Given the description of an element on the screen output the (x, y) to click on. 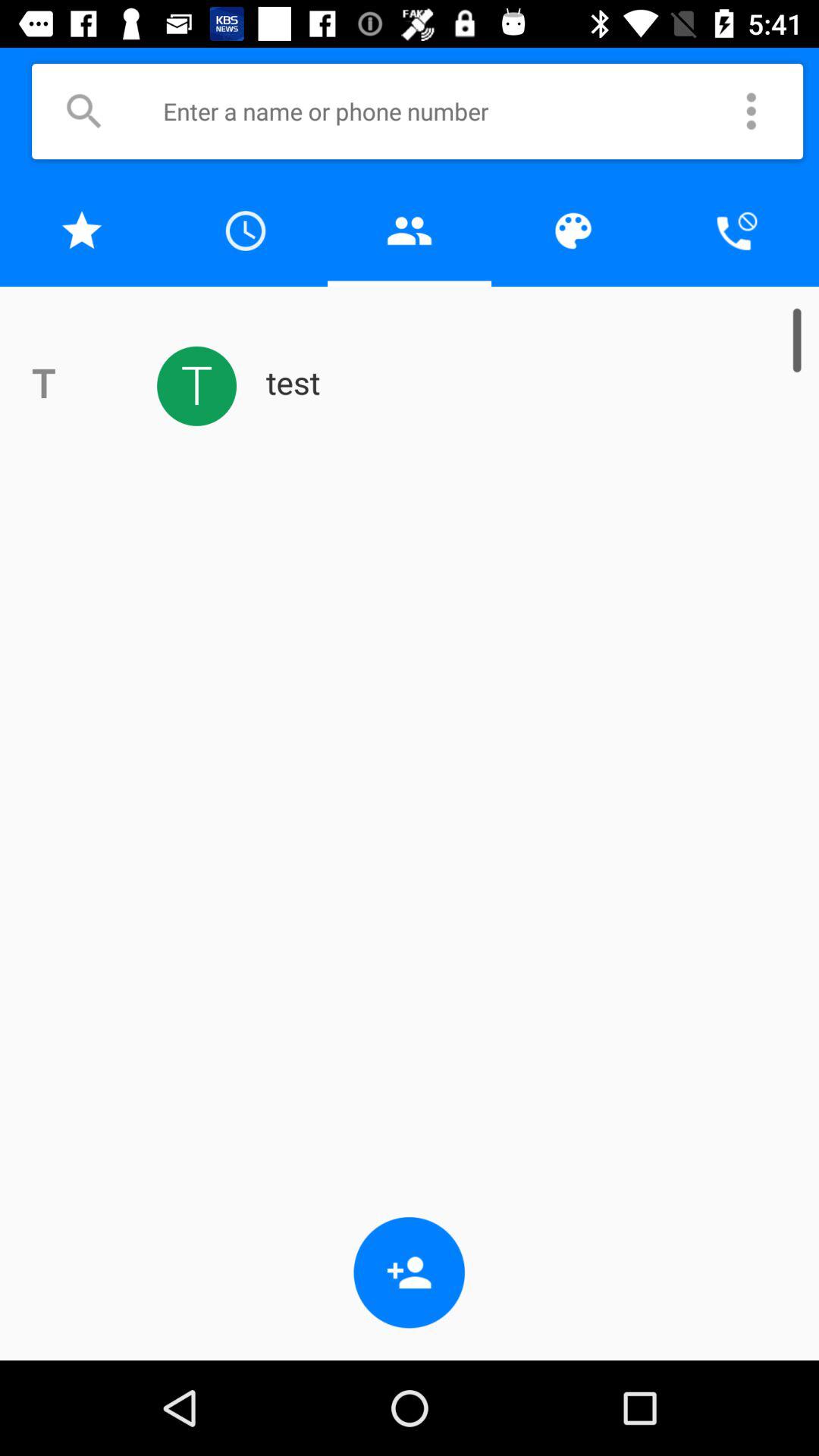
select the icon above the test icon (573, 230)
